Given the description of an element on the screen output the (x, y) to click on. 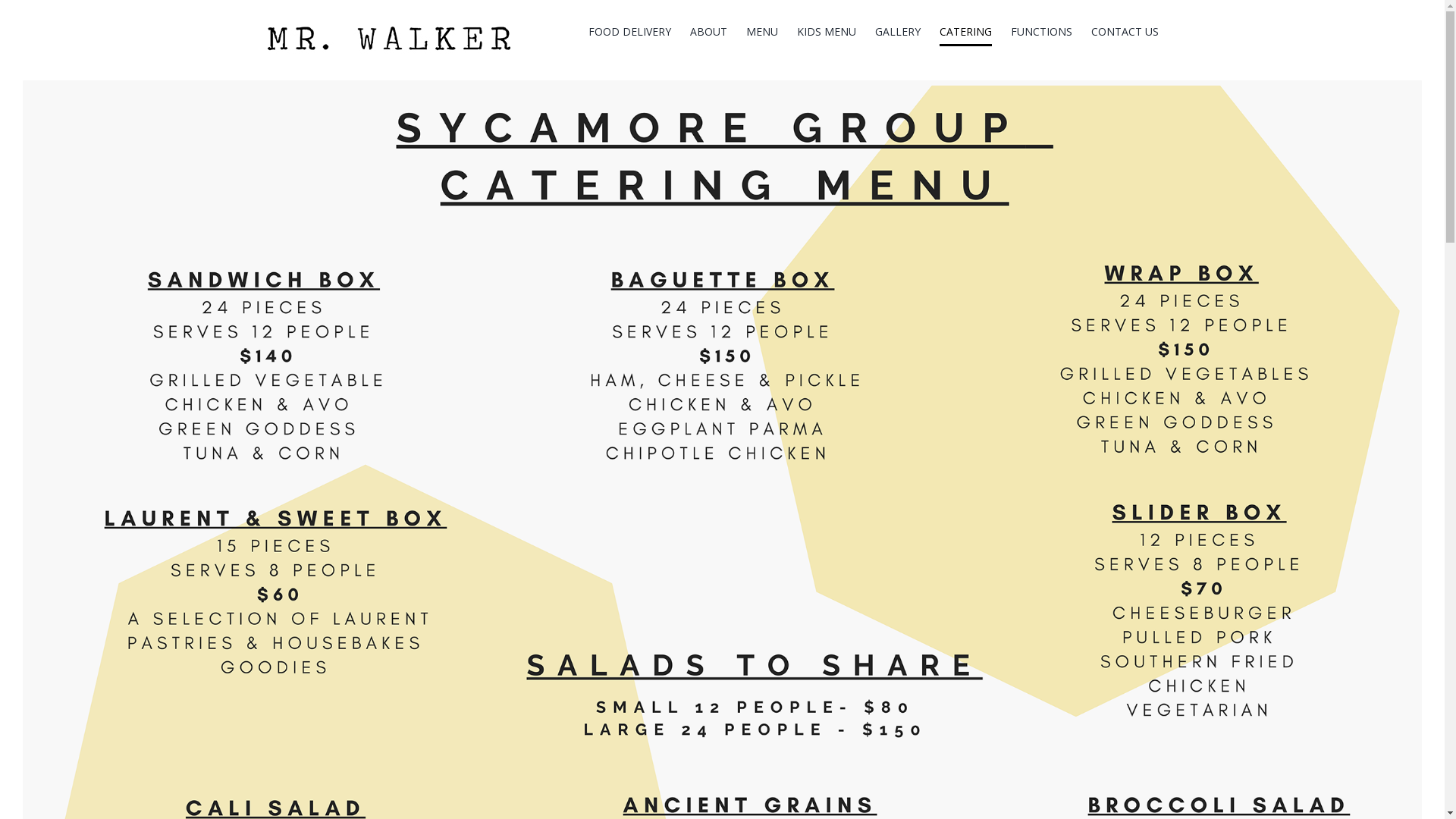
ABOUT Element type: text (708, 31)
FOOD DELIVERY Element type: text (629, 31)
MENU Element type: text (762, 31)
CONTACT US Element type: text (1123, 31)
KIDS MENU Element type: text (825, 31)
CATERING Element type: text (964, 31)
GALLERY Element type: text (897, 31)
FUNCTIONS Element type: text (1040, 31)
